Given the description of an element on the screen output the (x, y) to click on. 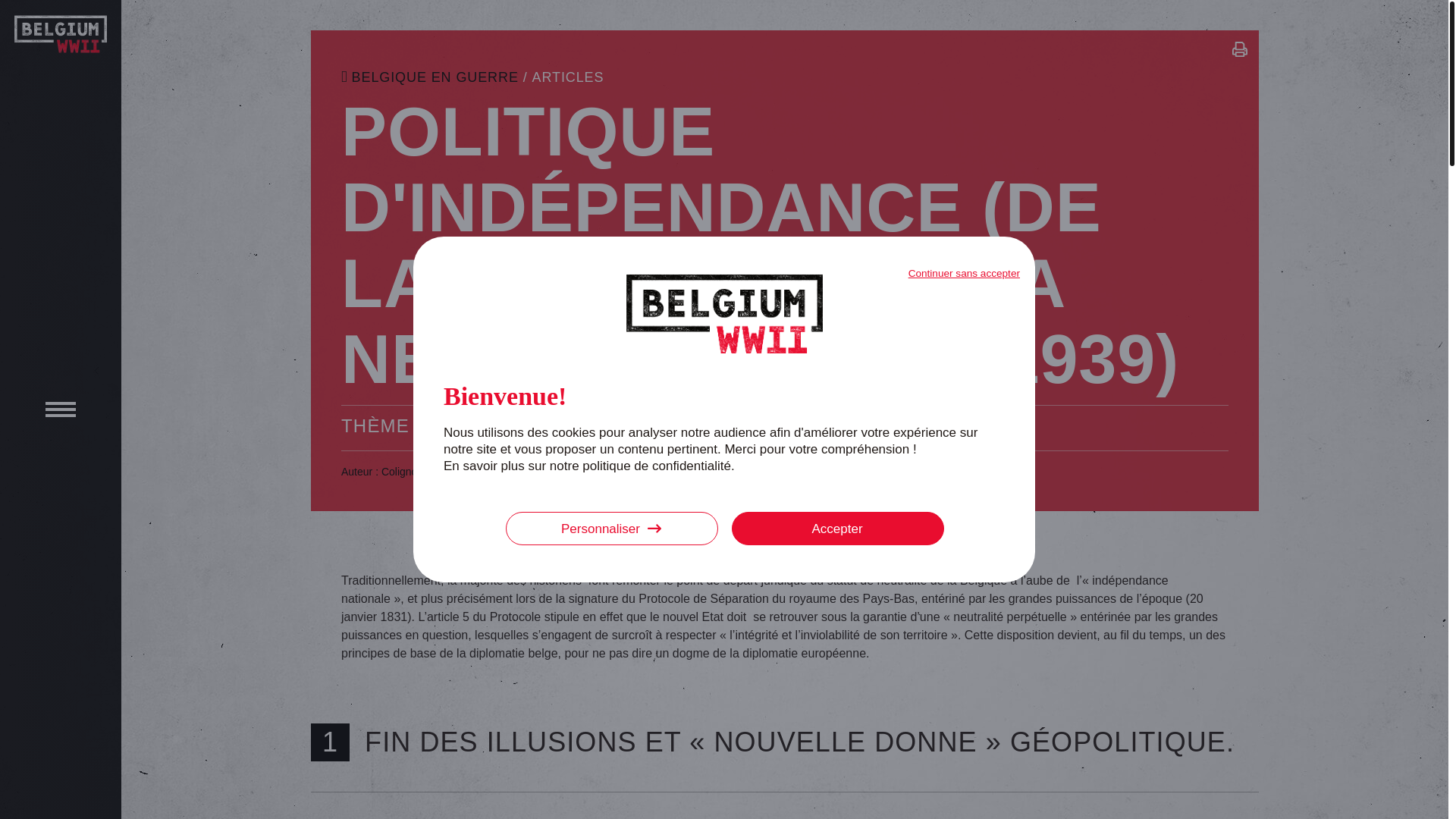
Colignon Alain Element type: text (415, 471)
CegeSoma Element type: text (536, 471)
ARTICLES Element type: text (568, 76)
Imprimer cette page Element type: hover (1239, 51)
BELGIQUE EN GUERRE Element type: text (429, 76)
